Given the description of an element on the screen output the (x, y) to click on. 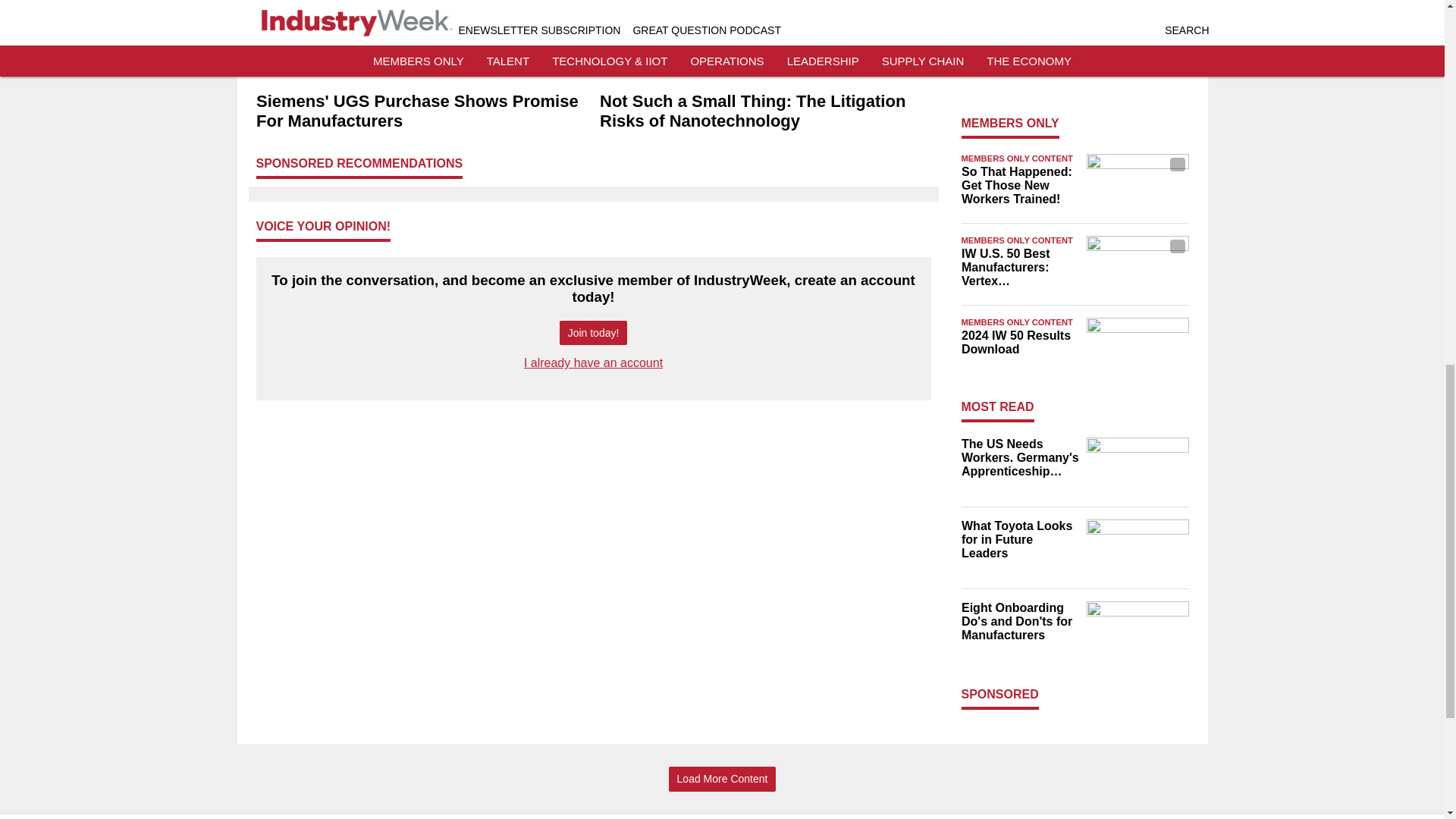
MEMBERS ONLY (1009, 123)
Join today! (593, 333)
I already have an account (593, 362)
2024 IW 50 Results Download (1019, 342)
Siemens' UGS Purchase Shows Promise For Manufacturers (422, 111)
So That Happened: Get Those New Workers Trained! (1019, 185)
